Given the description of an element on the screen output the (x, y) to click on. 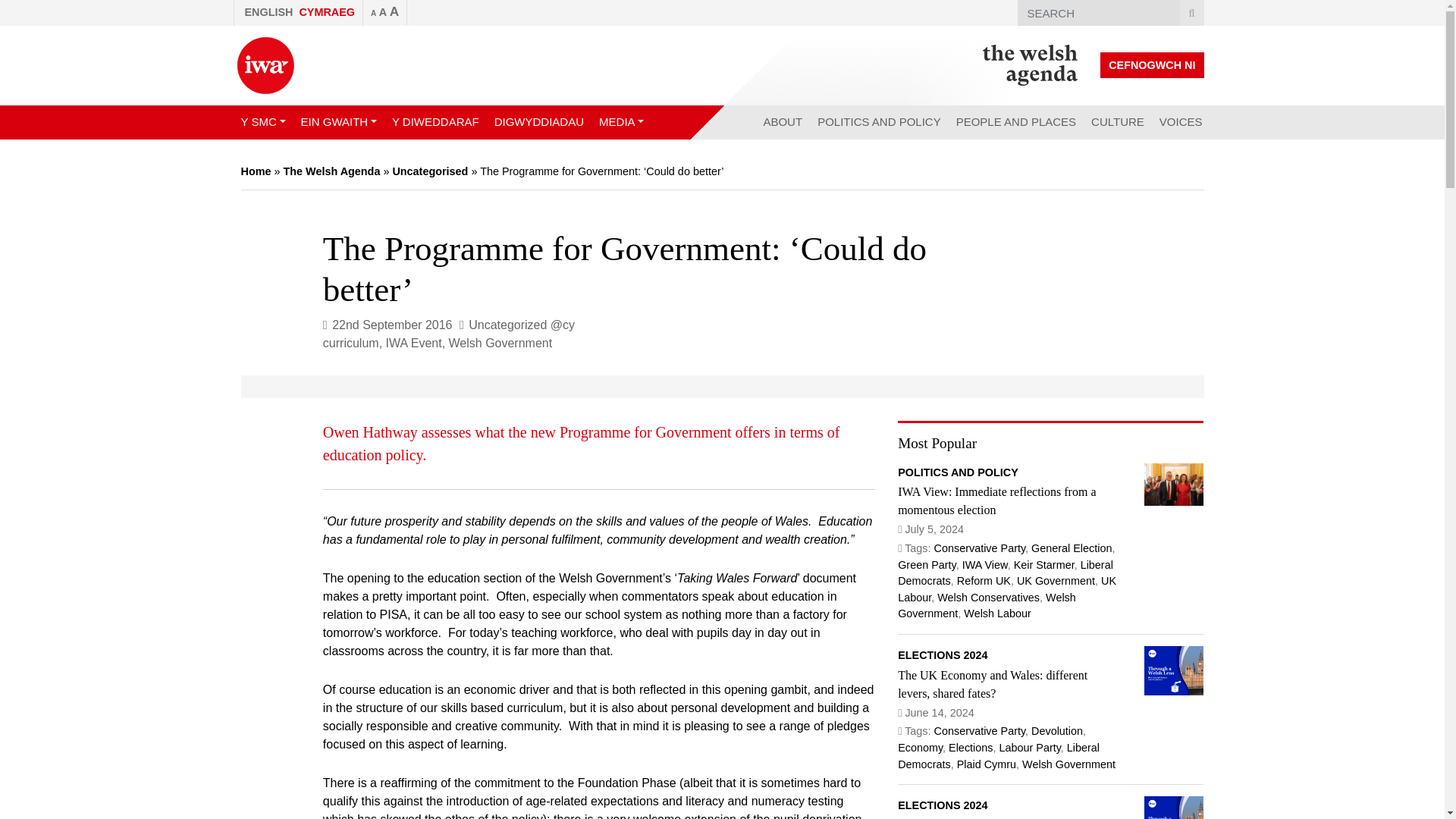
Y DIWEDDARAF (435, 122)
CEFNOGWCH NI (1152, 64)
Y SMC (263, 122)
Home (255, 171)
DIGWYDDIADAU (538, 122)
VOICES (1180, 122)
 ENGLISH (263, 12)
CULTURE (1117, 122)
Institute of Welsh Affairs (264, 65)
 CYMRAEG (328, 12)
POLITICS AND POLICY (879, 122)
MEDIA (620, 122)
ABOUT (782, 122)
The Welsh Agenda (1029, 65)
PEOPLE AND PLACES (1016, 122)
